Given the description of an element on the screen output the (x, y) to click on. 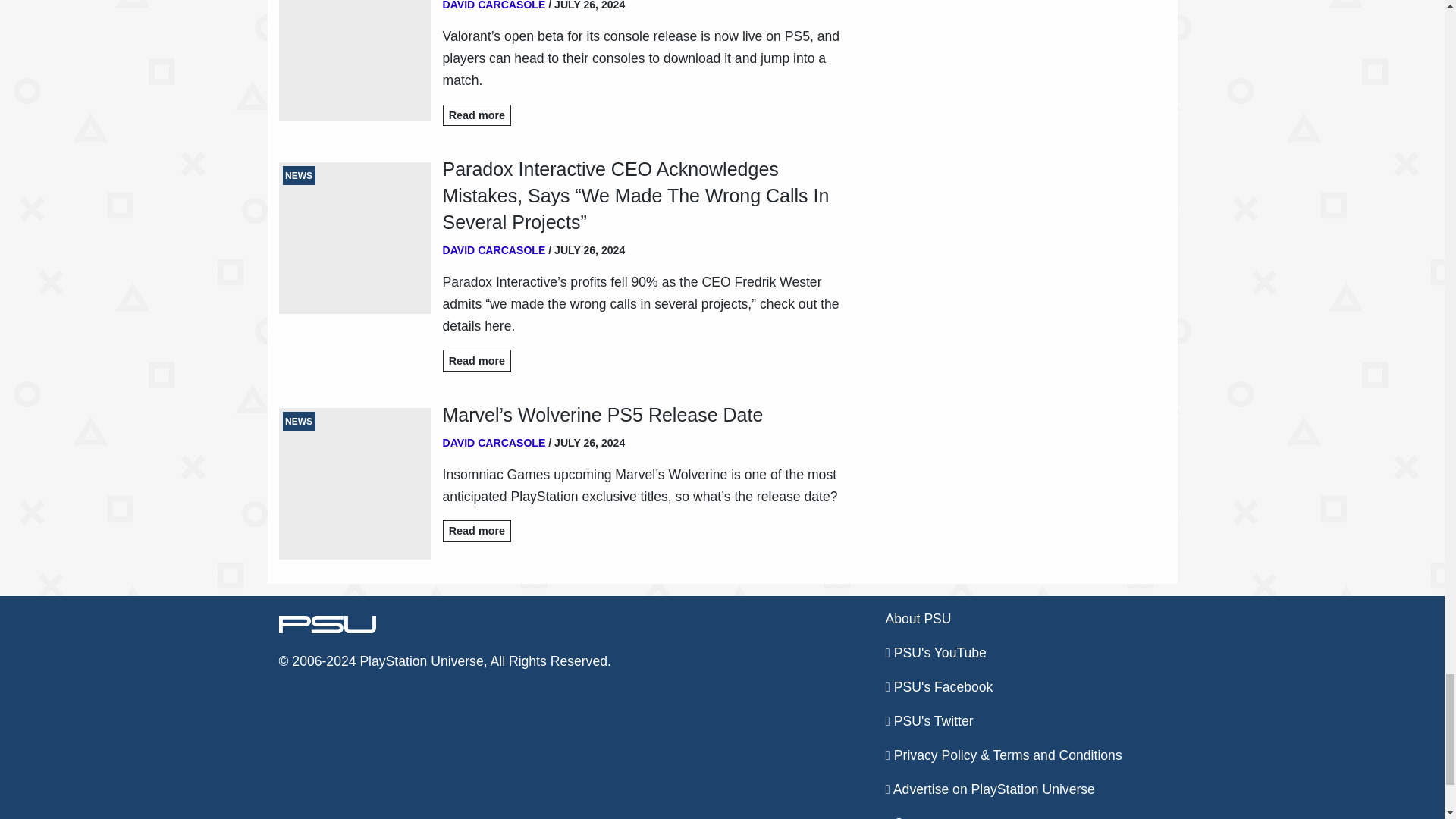
NEWS (354, 483)
NEWS (354, 60)
Read more (477, 531)
DAVID CARCASOLE (494, 442)
DAVID CARCASOLE (494, 5)
Read more (477, 360)
NEWS (354, 237)
Read more (477, 115)
DAVID CARCASOLE (494, 250)
